Given the description of an element on the screen output the (x, y) to click on. 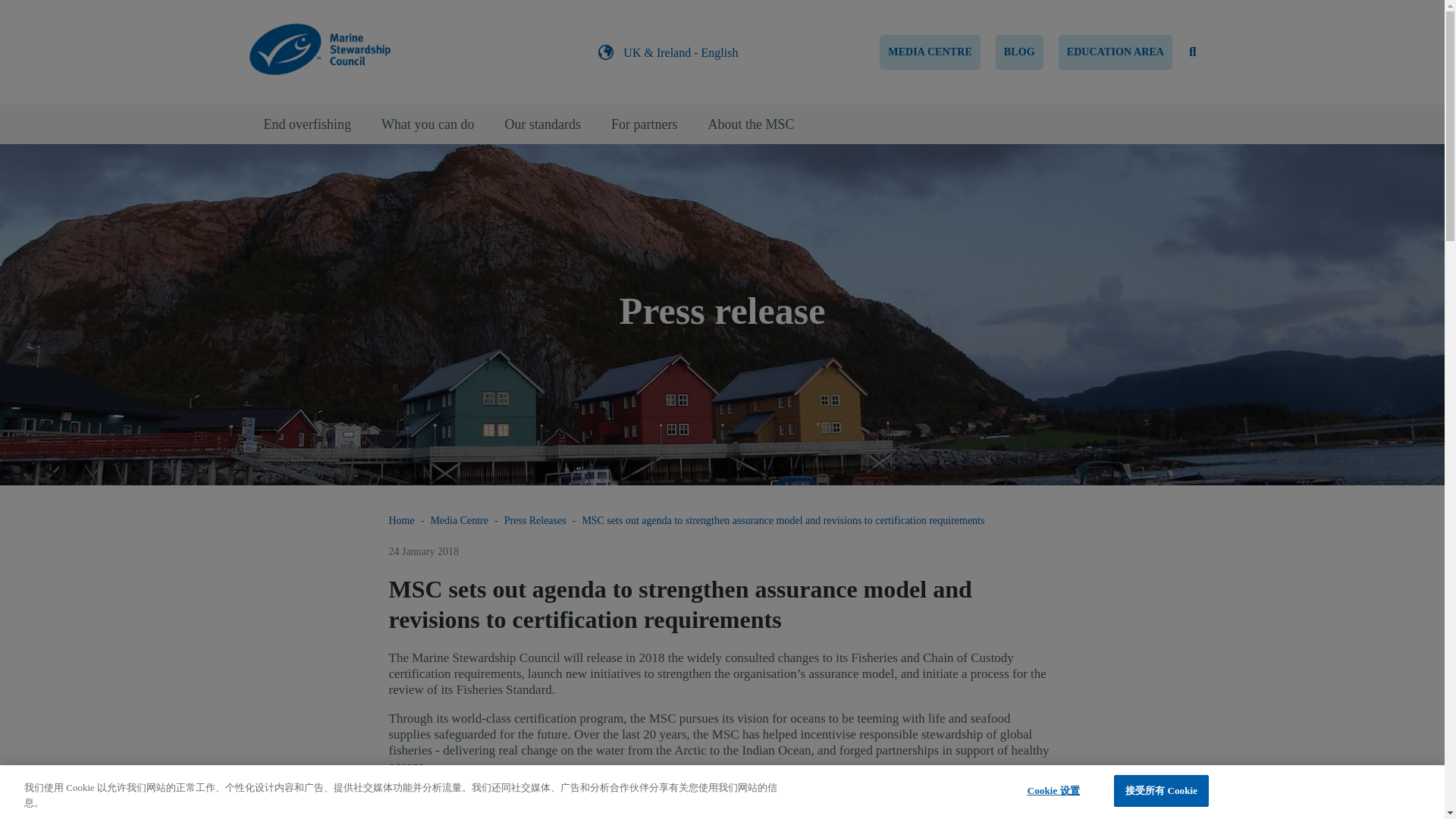
EDUCATION AREA (1115, 52)
MEDIA CENTRE (929, 52)
What you can do (427, 124)
Our standards (542, 124)
What you can do (427, 124)
End overfishing (307, 124)
For partners (644, 124)
End overfishing (307, 124)
About the MSC (751, 124)
BLOG (1019, 52)
